Given the description of an element on the screen output the (x, y) to click on. 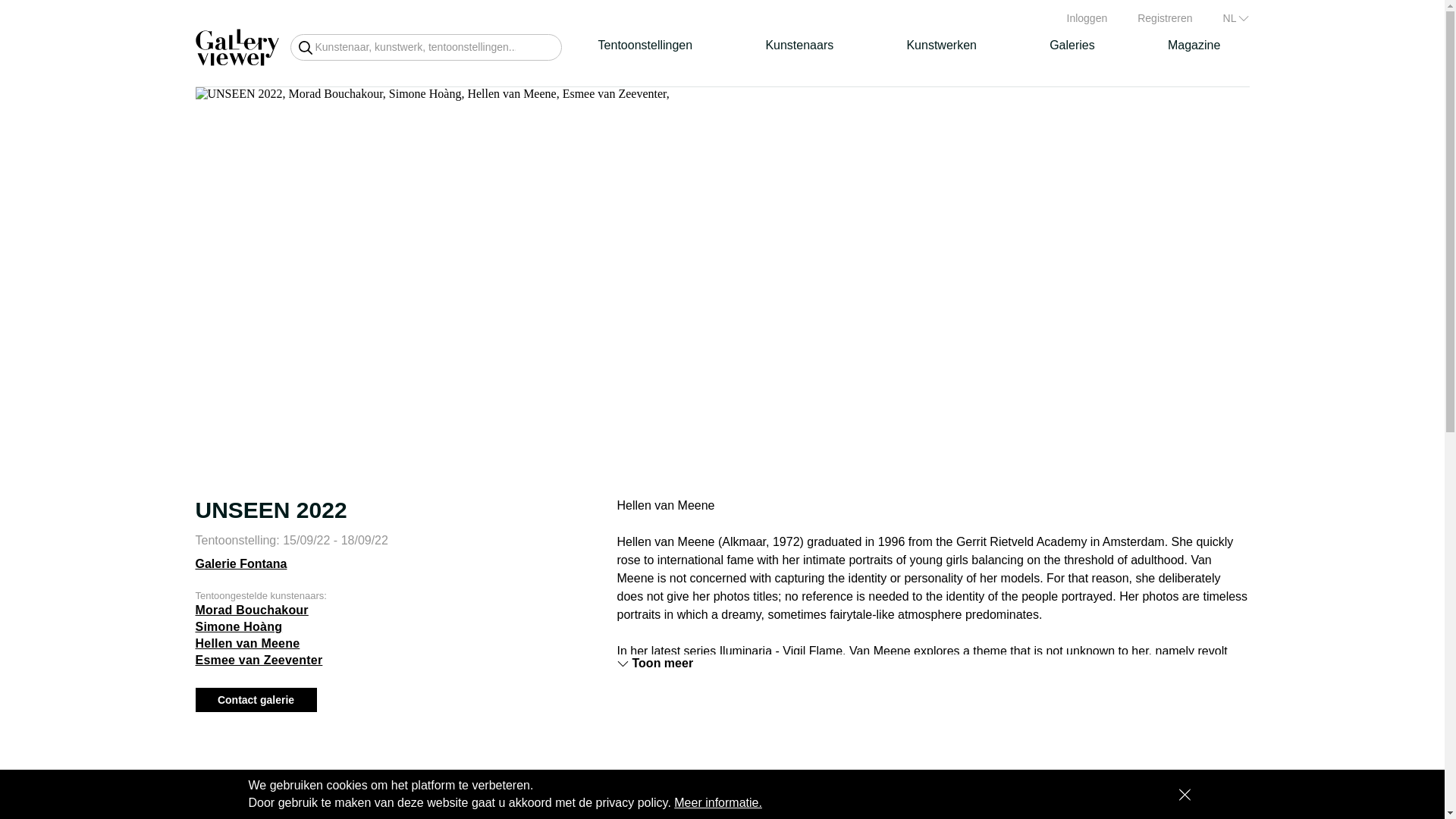
Contact galerie (256, 699)
Kunstwerken (940, 45)
Magazine (1193, 45)
Tentoonstellingen (645, 45)
Morad Bouchakour (251, 609)
Galeries (1071, 45)
Esmee van Zeeventer (259, 659)
Kunstenaars (798, 45)
Galerie Fontana (240, 567)
Hellen van Meene (247, 643)
